Given the description of an element on the screen output the (x, y) to click on. 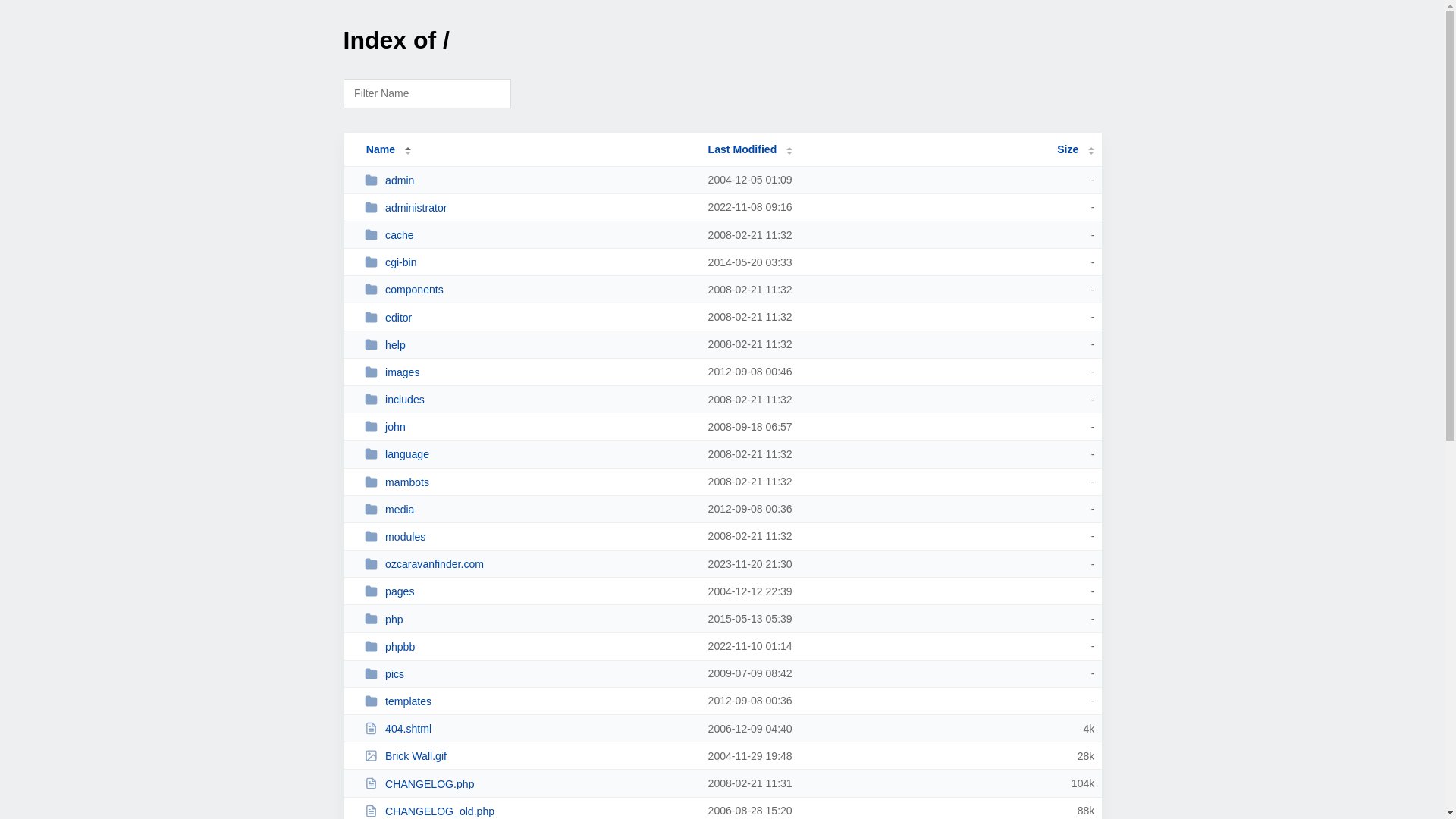
help Element type: text (529, 344)
mambots Element type: text (529, 481)
phpbb Element type: text (529, 646)
language Element type: text (529, 453)
administrator Element type: text (529, 206)
modules Element type: text (529, 536)
404.shtml Element type: text (529, 727)
editor Element type: text (529, 316)
Last Modified Element type: text (750, 149)
Name Element type: text (380, 149)
Brick Wall.gif Element type: text (529, 755)
CHANGELOG.php Element type: text (529, 783)
CHANGELOG_old.php Element type: text (529, 810)
pages Element type: text (529, 590)
images Element type: text (529, 371)
templates Element type: text (529, 700)
includes Element type: text (529, 398)
cache Element type: text (529, 234)
admin Element type: text (529, 179)
cgi-bin Element type: text (529, 261)
components Element type: text (529, 288)
john Element type: text (529, 426)
ozcaravanfinder.com Element type: text (529, 563)
pics Element type: text (529, 673)
media Element type: text (529, 508)
php Element type: text (529, 618)
Size Element type: text (1075, 149)
